Given the description of an element on the screen output the (x, y) to click on. 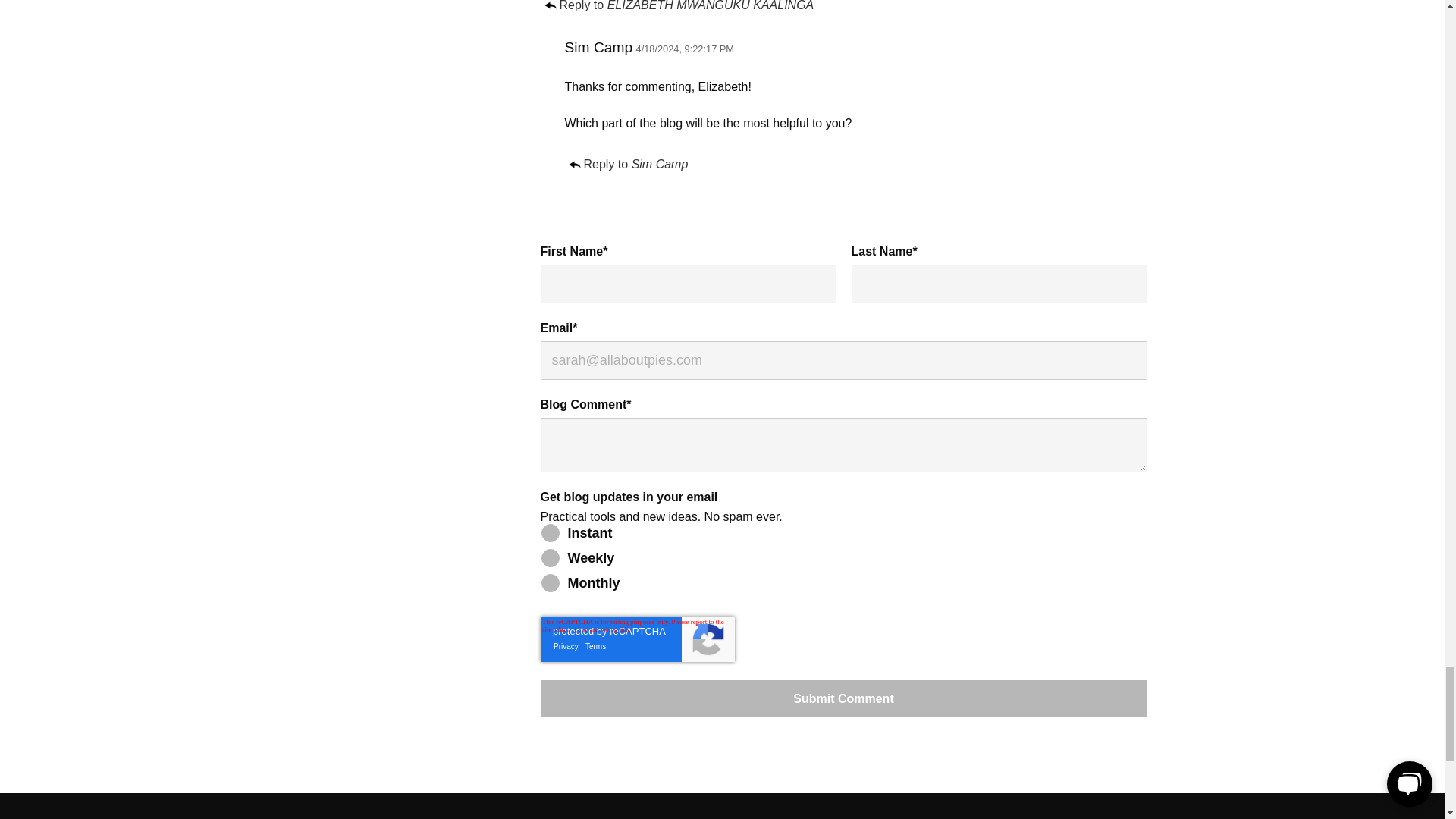
reCAPTCHA (636, 638)
Submit Comment (843, 698)
